Given the description of an element on the screen output the (x, y) to click on. 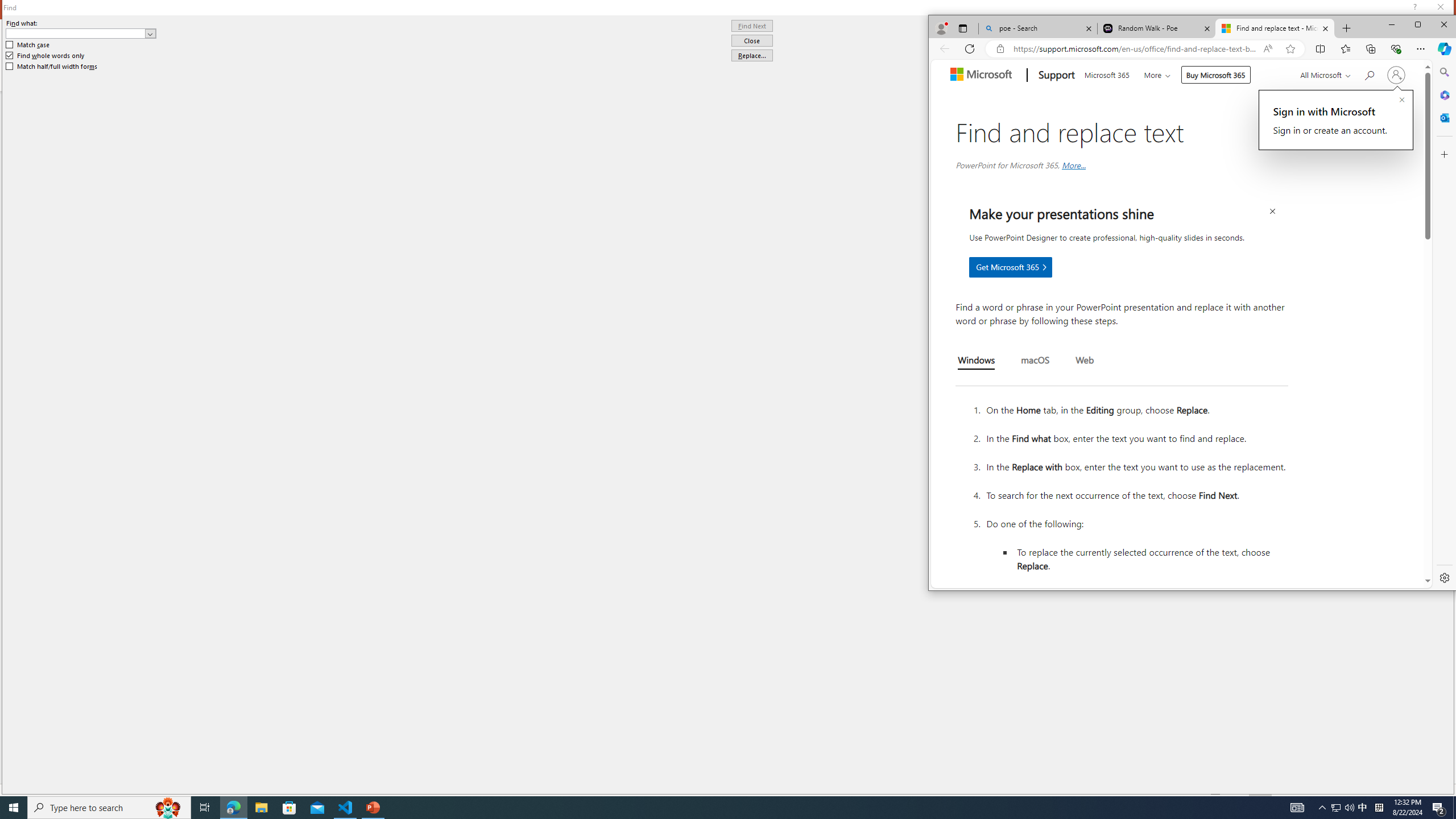
Favorites (1344, 48)
Read aloud this page (Ctrl+Shift+U) (1267, 48)
Customize (1444, 154)
Settings (1444, 577)
